Given the description of an element on the screen output the (x, y) to click on. 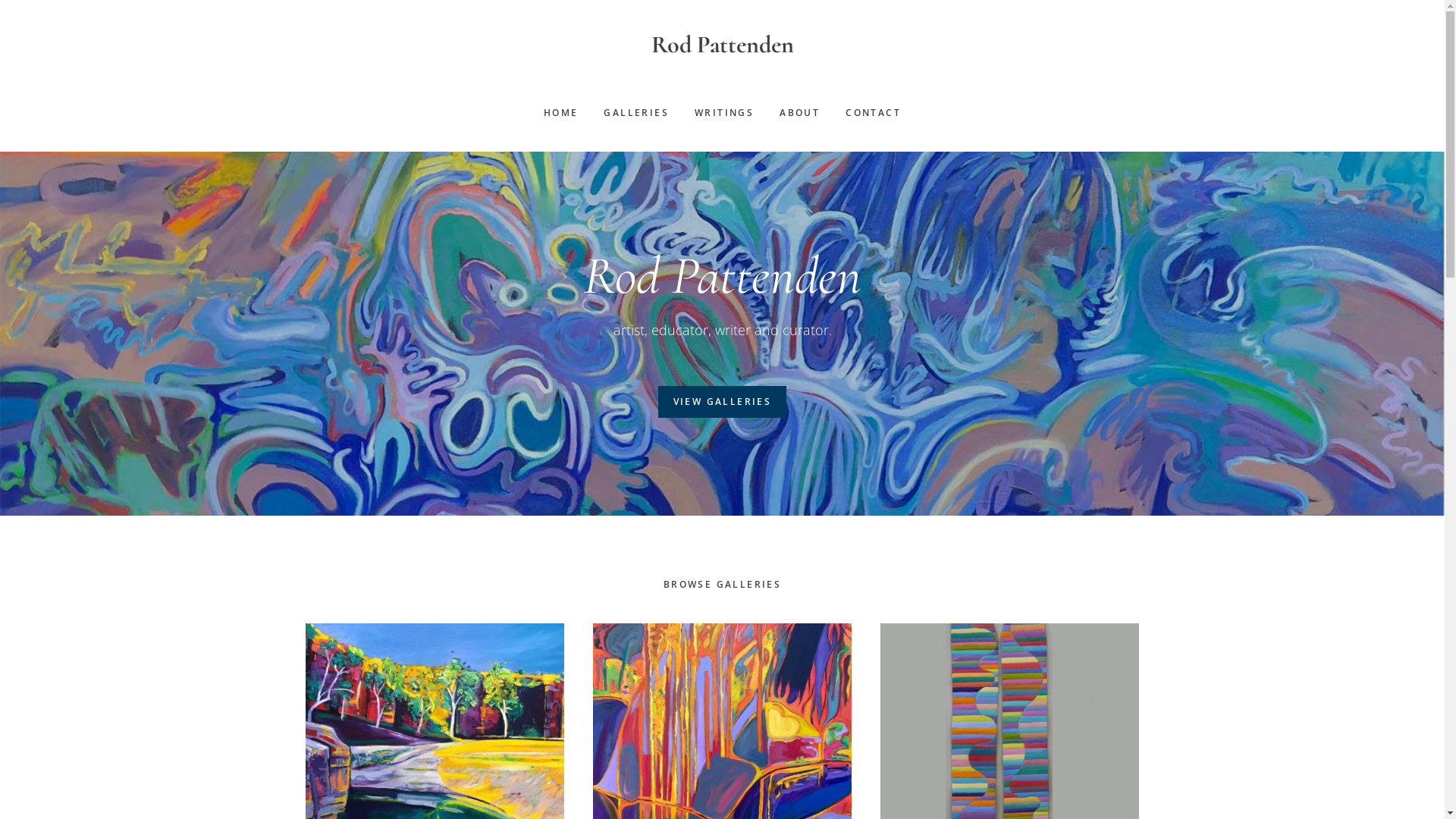
Rod Pattenden Element type: text (721, 44)
ABOUT Element type: text (799, 112)
Skip to main content Element type: text (0, 0)
VIEW GALLERIES Element type: text (722, 401)
HOME Element type: text (560, 112)
GALLERIES Element type: text (636, 112)
WRITINGS Element type: text (724, 112)
CONTACT Element type: text (873, 112)
